Given the description of an element on the screen output the (x, y) to click on. 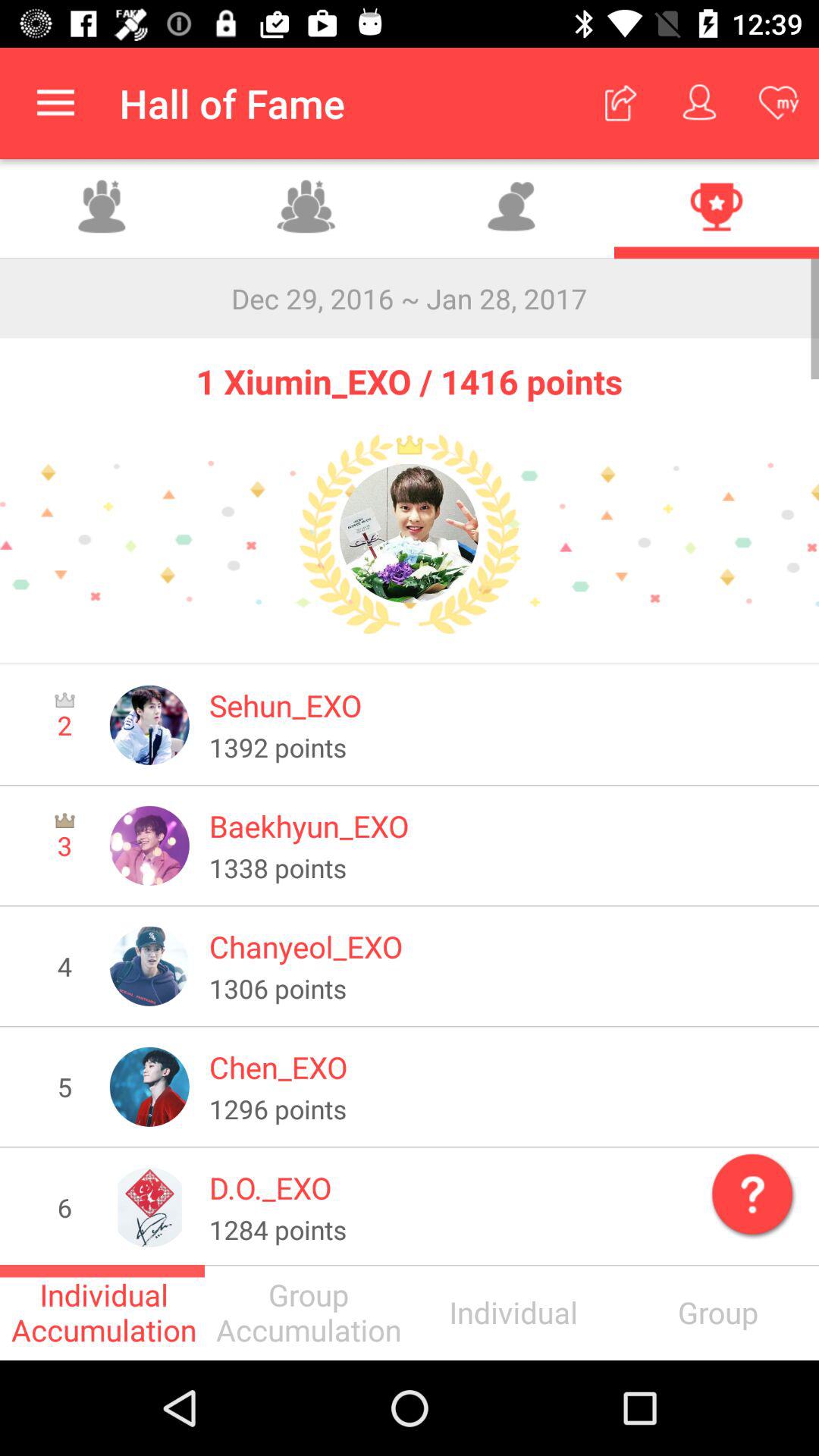
press the individual accumulation (102, 1312)
